Given the description of an element on the screen output the (x, y) to click on. 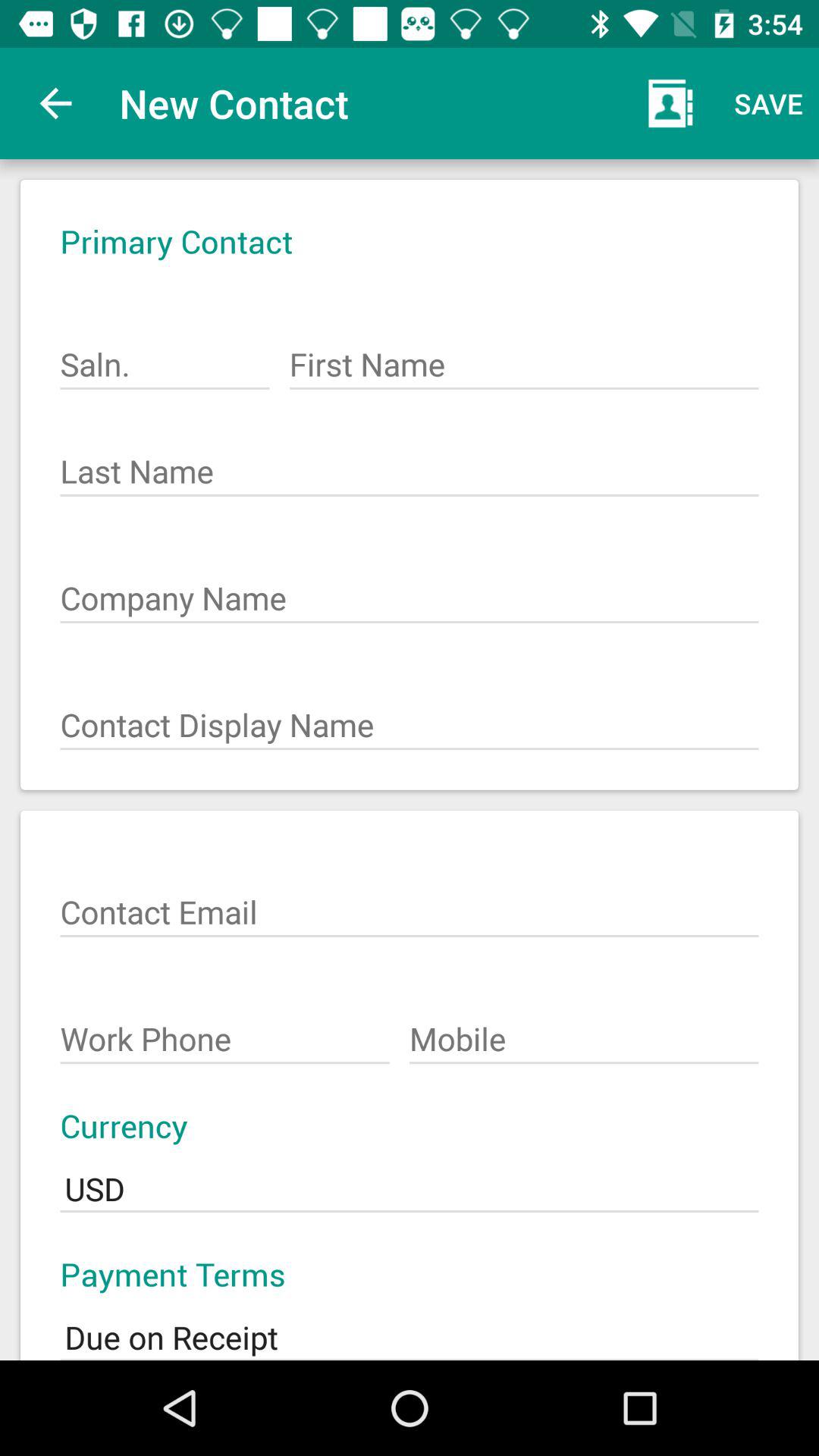
click the item at the bottom left corner (224, 1031)
